Given the description of an element on the screen output the (x, y) to click on. 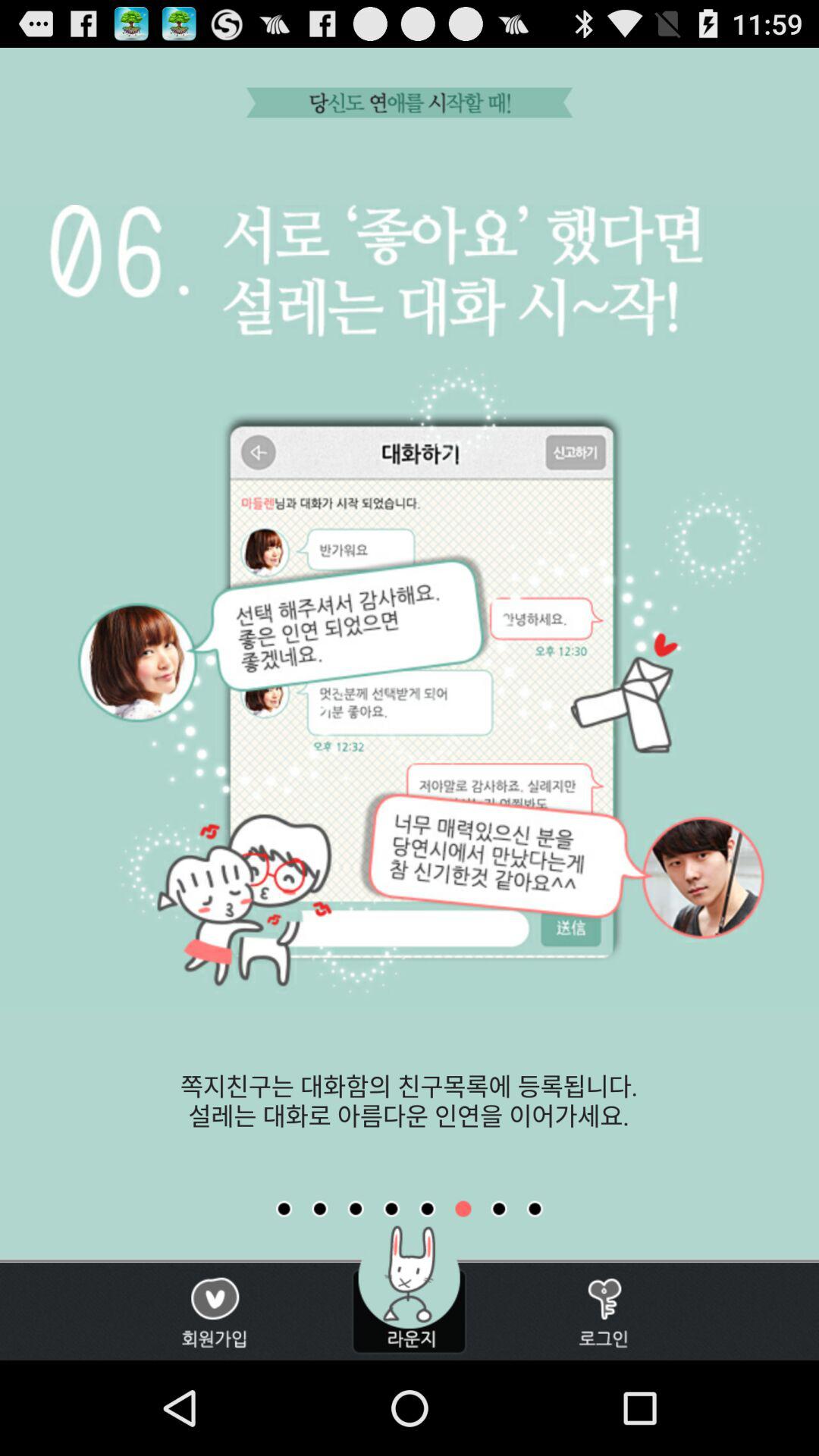
select page (355, 1208)
